Given the description of an element on the screen output the (x, y) to click on. 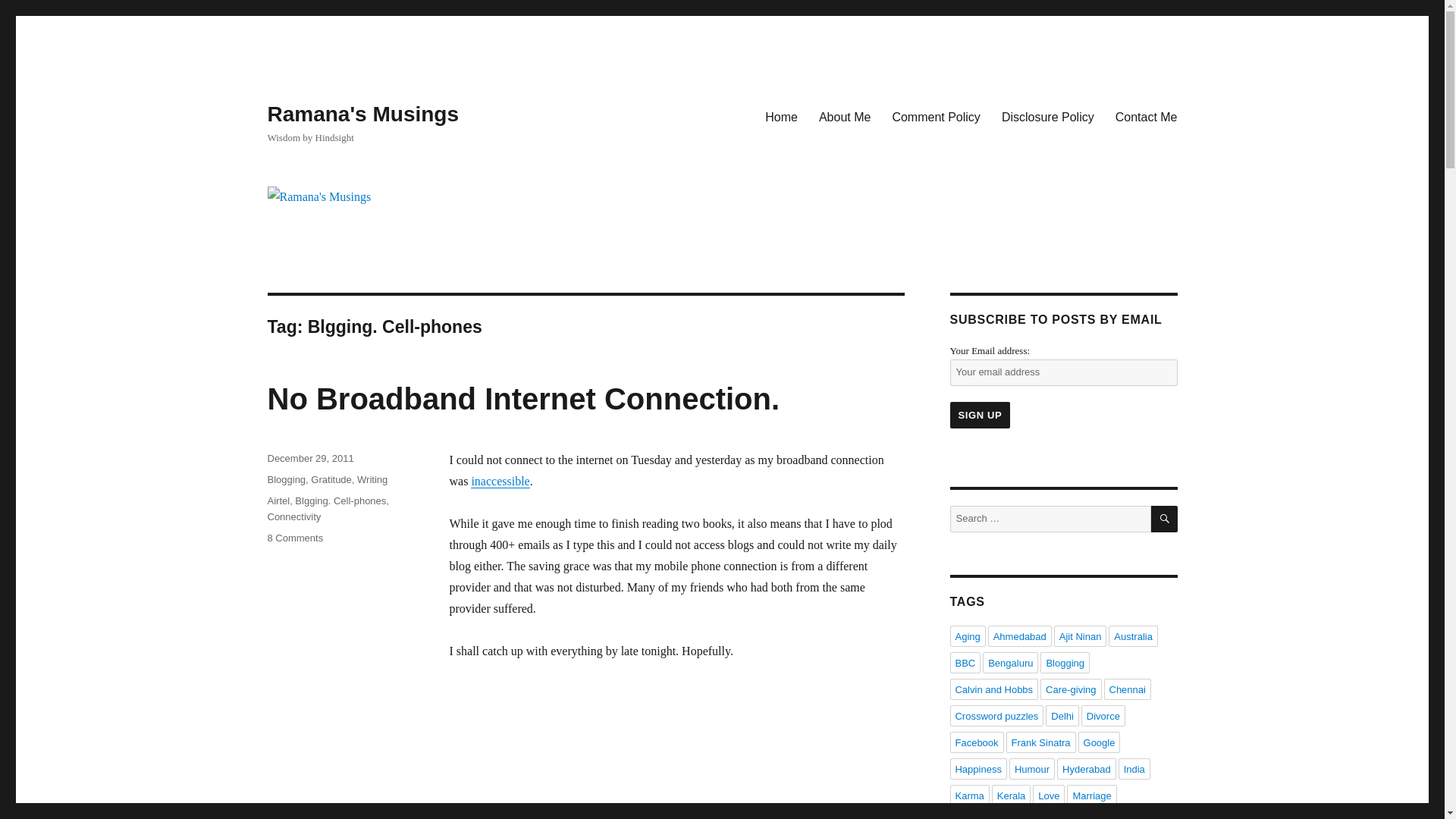
Blogging (285, 479)
About Me (844, 116)
December 29, 2011 (309, 458)
Sign up (979, 415)
Crossword puzzles (996, 715)
Contact Me (1146, 116)
Writing (371, 479)
Happiness (977, 768)
Humour (1031, 768)
Frank Sinatra (1040, 742)
